Given the description of an element on the screen output the (x, y) to click on. 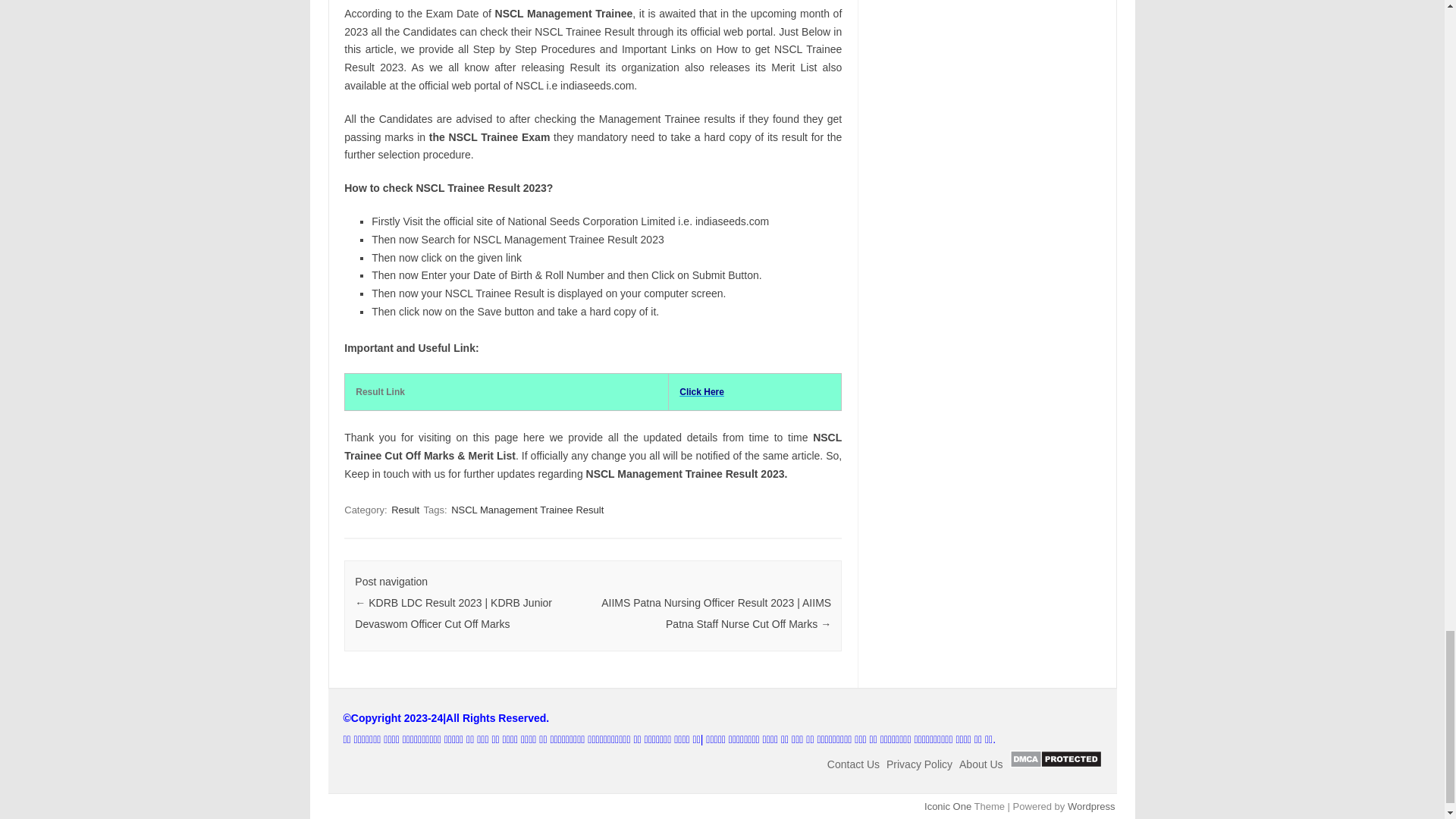
DMCA.com Protection Status (1056, 764)
Result (405, 509)
NSCL Management Trainee Result (527, 509)
Click Here (701, 391)
